Given the description of an element on the screen output the (x, y) to click on. 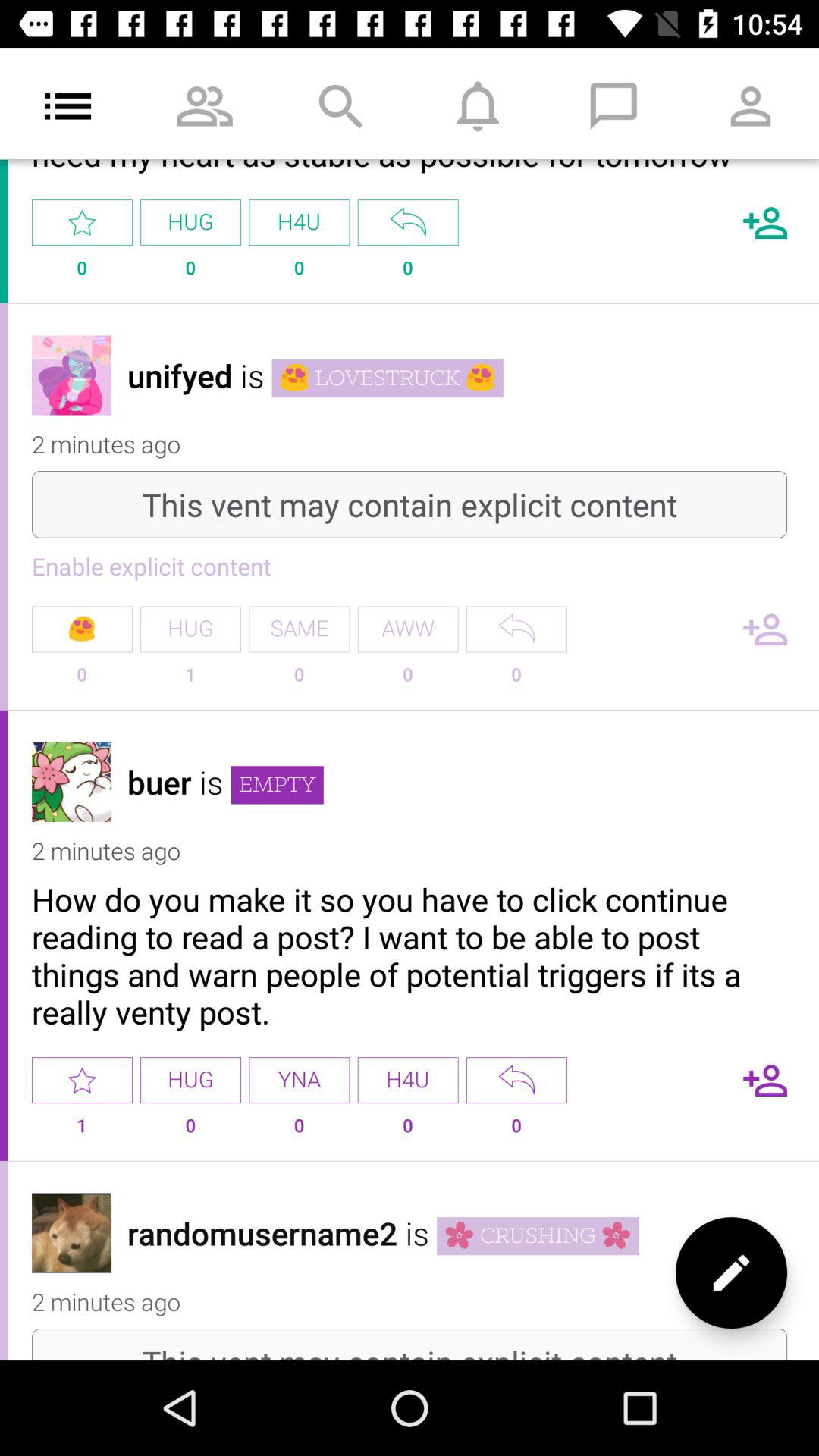
number of followers (765, 629)
